Given the description of an element on the screen output the (x, y) to click on. 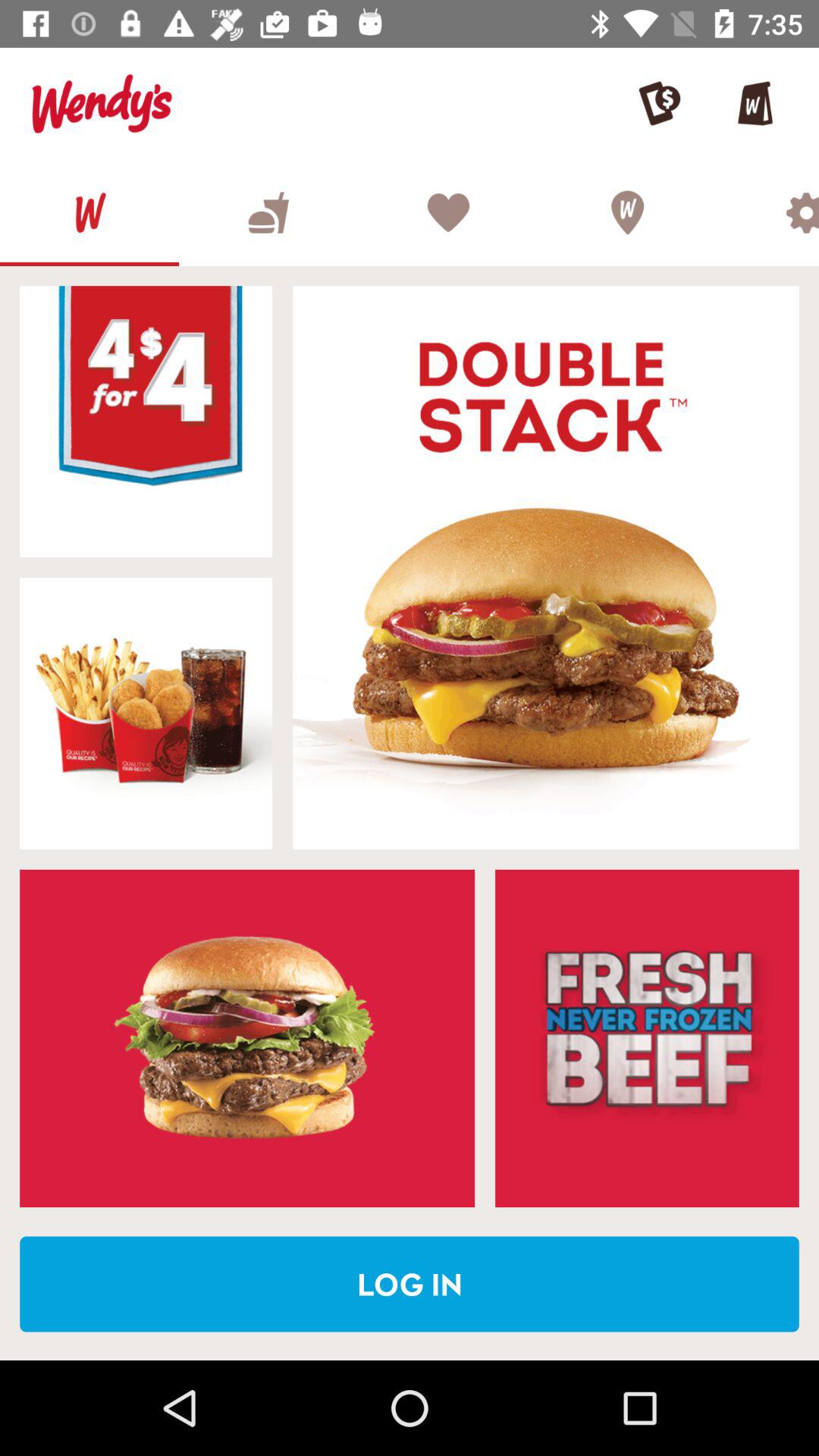
add double stack (545, 567)
